Given the description of an element on the screen output the (x, y) to click on. 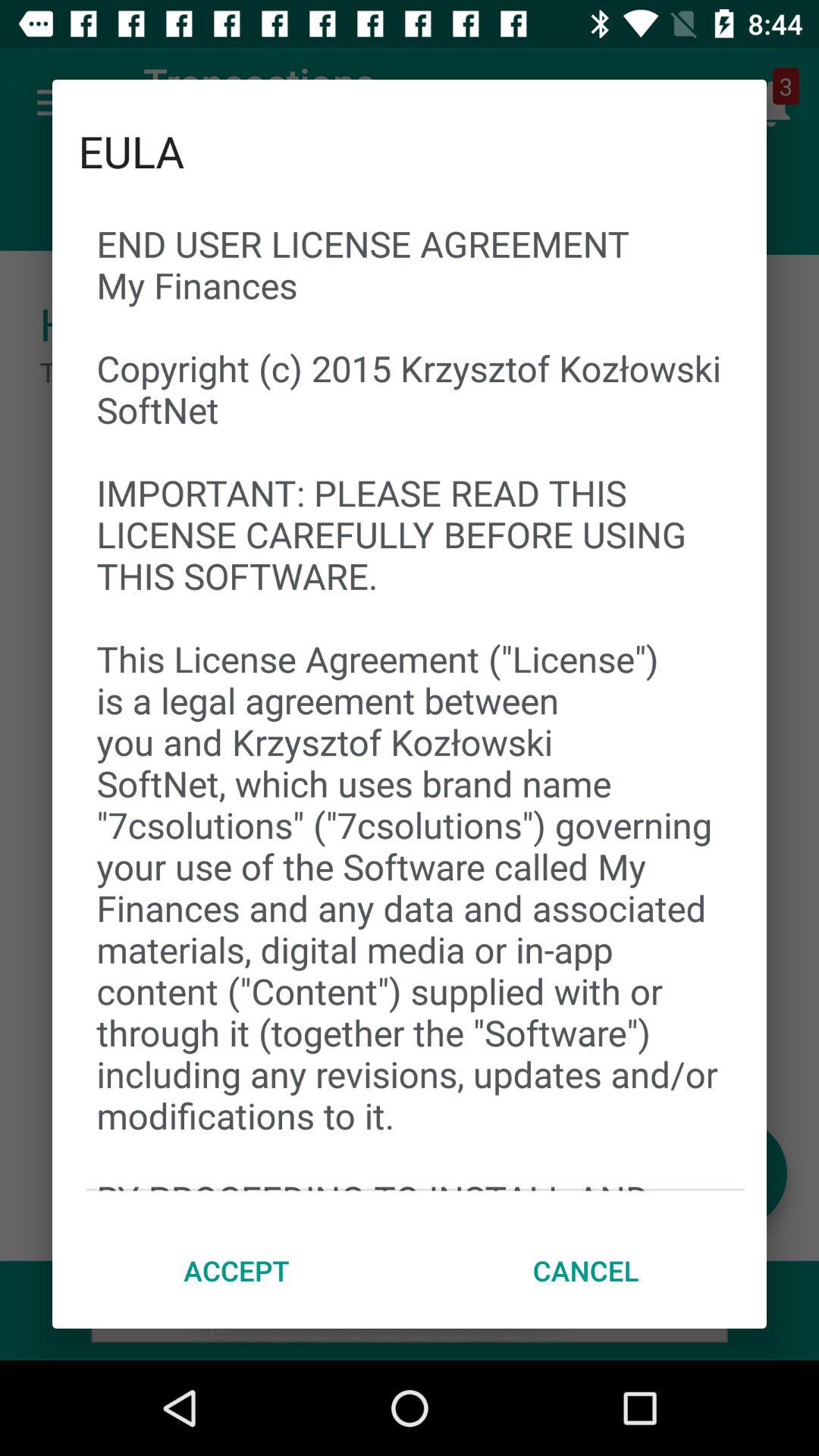
select accept item (236, 1270)
